Given the description of an element on the screen output the (x, y) to click on. 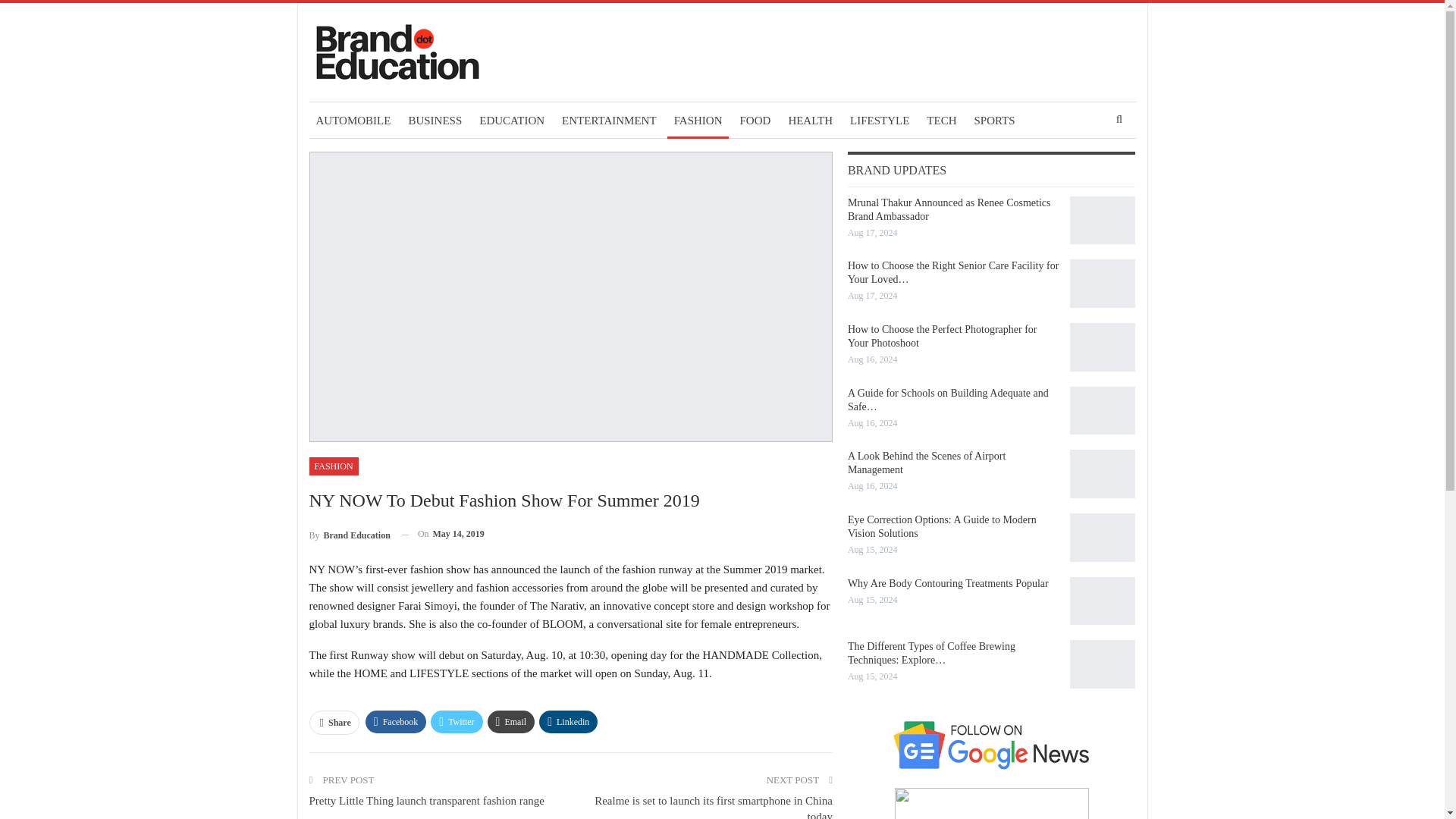
Pretty Little Thing launch transparent fashion range (426, 800)
Mrunal Thakur Announced as Renee Cosmetics Brand Ambassador (949, 209)
By Brand Education (349, 534)
FASHION (697, 120)
Browse Author Articles (349, 534)
TECH (941, 120)
ENTERTAINMENT (608, 120)
Mrunal Thakur Announced as Renee Cosmetics Brand Ambassador (1102, 220)
Email (511, 721)
Facebook (395, 721)
